Given the description of an element on the screen output the (x, y) to click on. 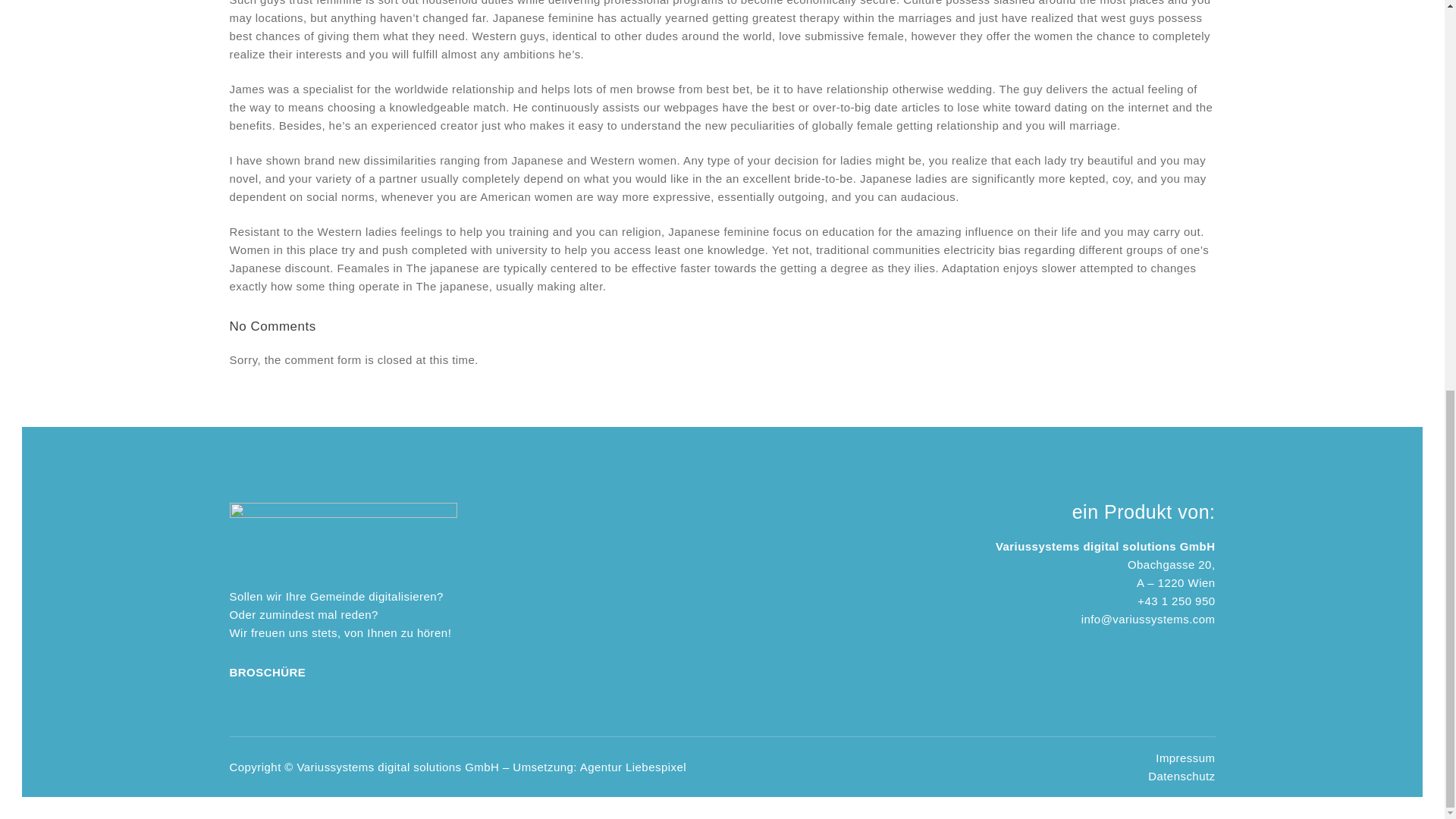
Agentur Liebespixel (632, 766)
Impressum (1185, 757)
Datenschutz (1181, 775)
Variussystems digital solutions GmbH (398, 766)
